Given the description of an element on the screen output the (x, y) to click on. 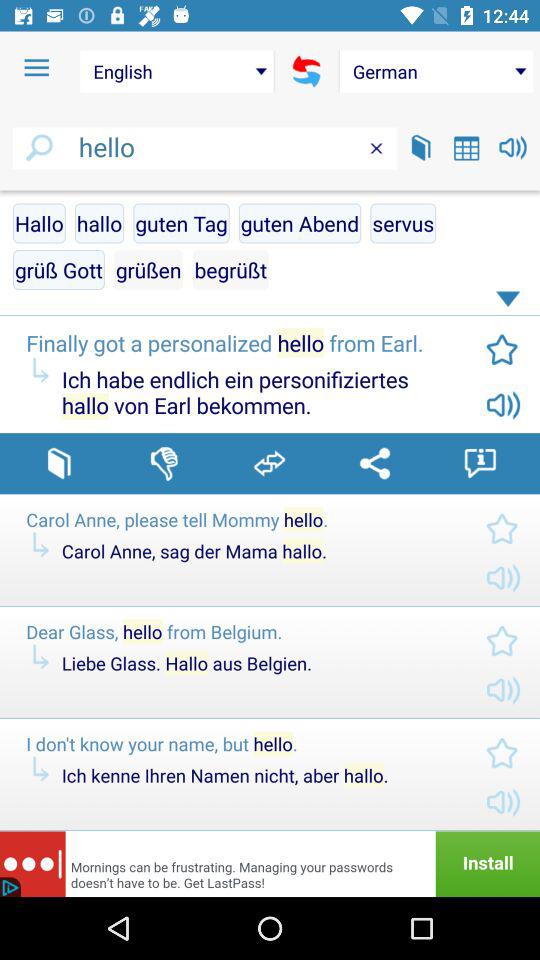
select the item below the ich habe endlich icon (374, 463)
